Given the description of an element on the screen output the (x, y) to click on. 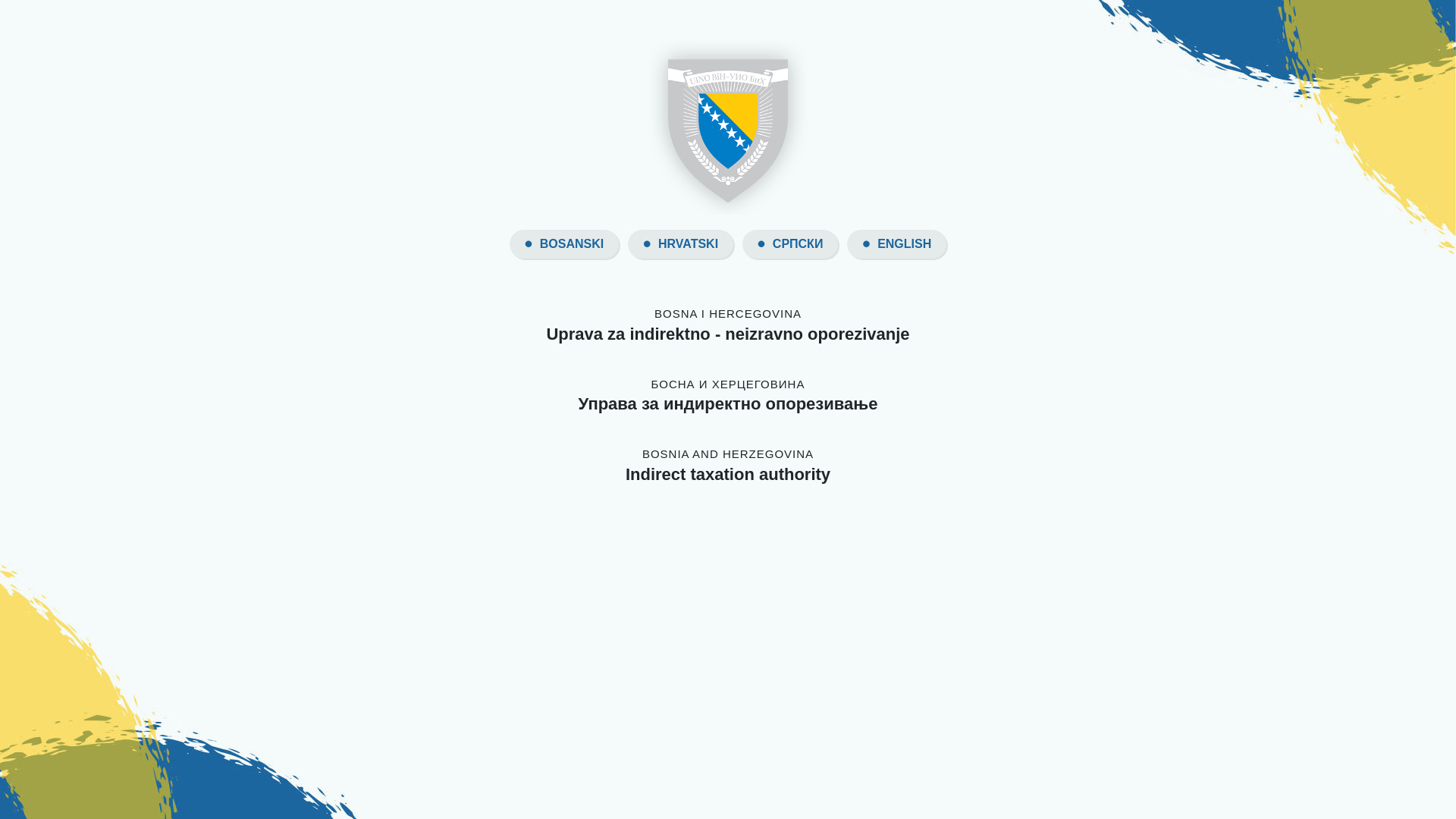
HRVATSKI Element type: text (688, 244)
ENGLISH Element type: text (904, 244)
BOSANSKI Element type: text (571, 244)
